Given the description of an element on the screen output the (x, y) to click on. 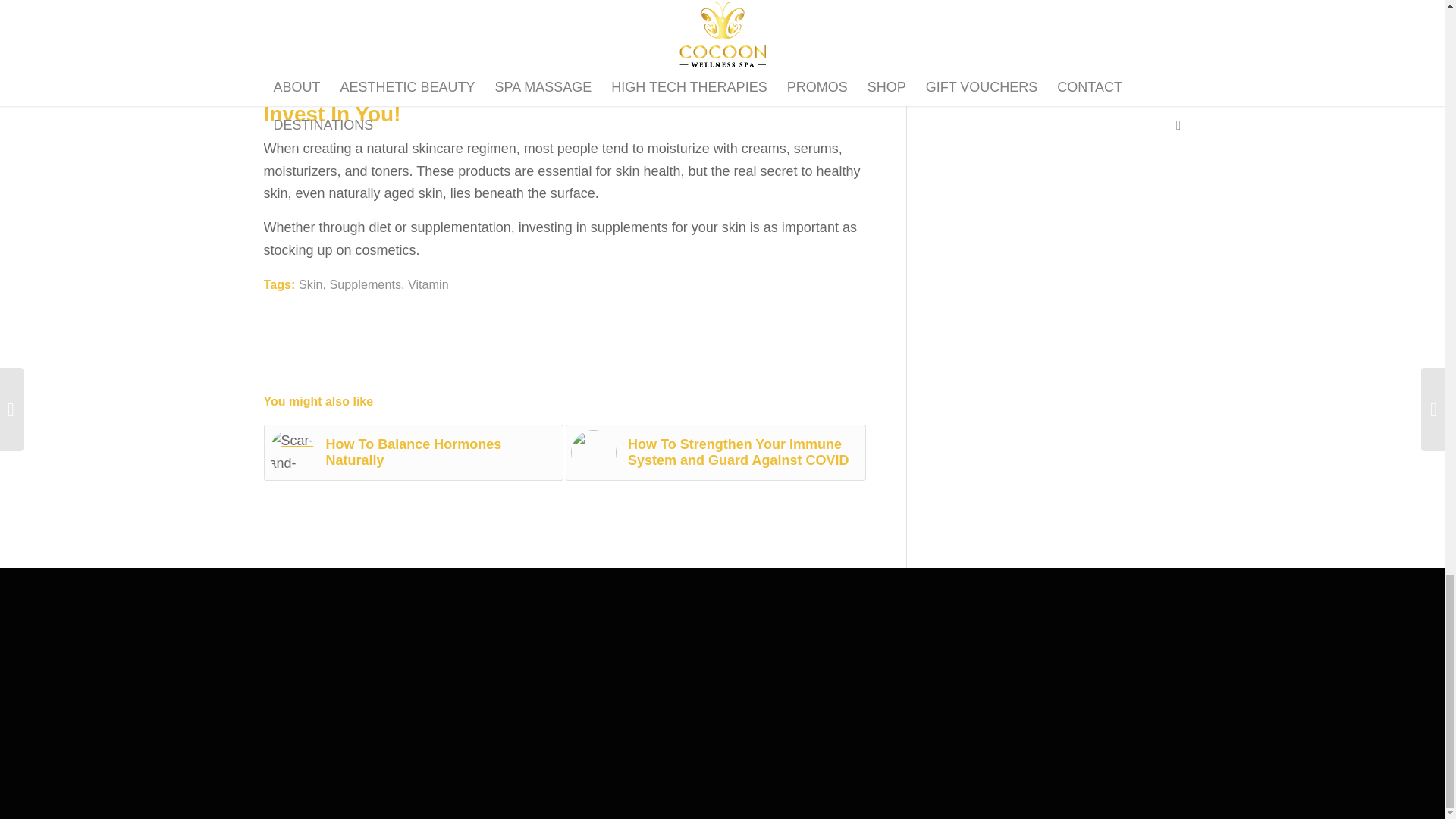
How To Strengthen Your Immune System and Guard Against COVID (716, 452)
Scar-and-stretch-mark-reduction (290, 452)
How To Balance Hormones Naturally (413, 452)
Couple Yoga photoshoot with white background. (592, 452)
